Given the description of an element on the screen output the (x, y) to click on. 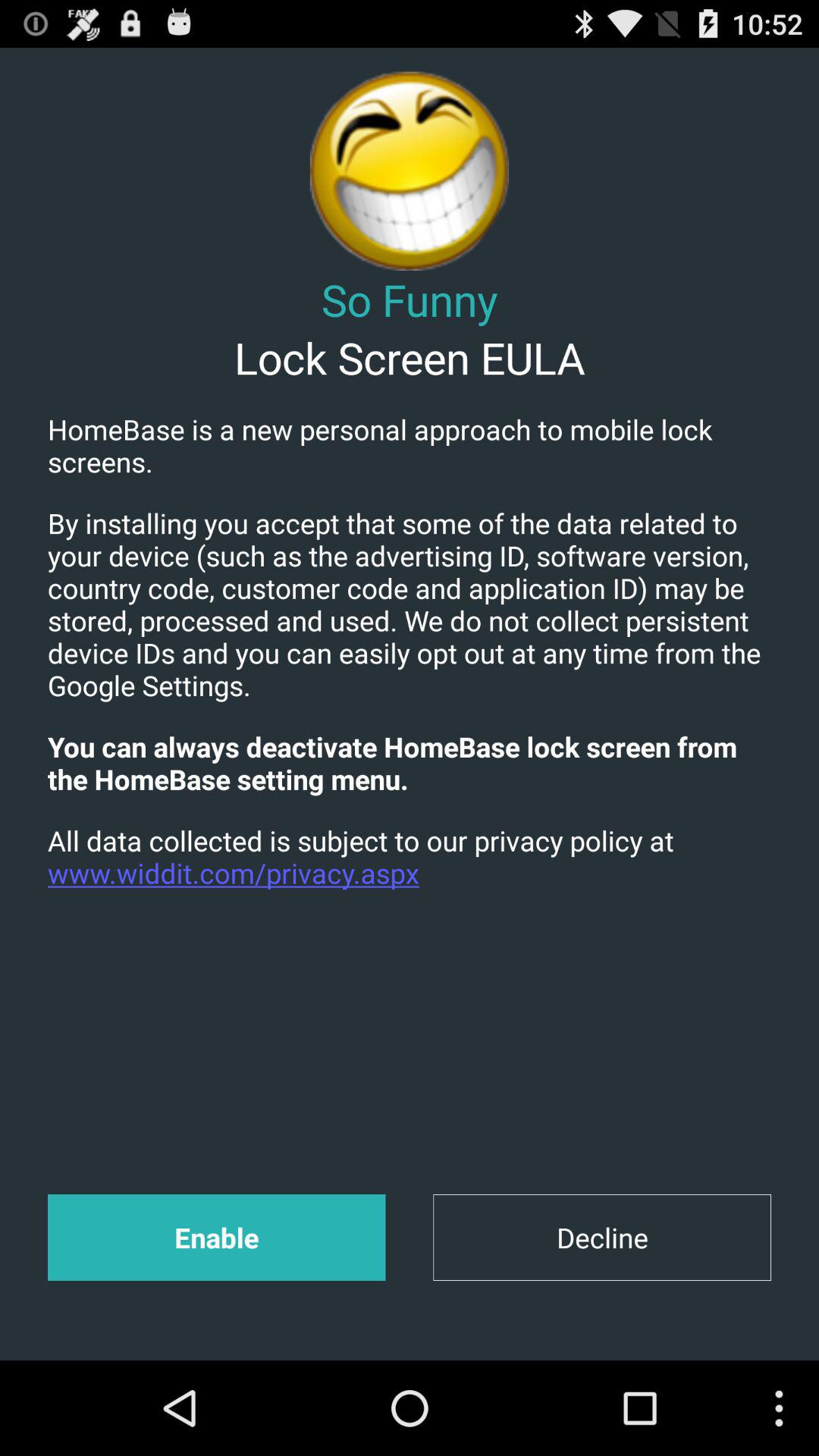
launch enable app (216, 1237)
